Given the description of an element on the screen output the (x, y) to click on. 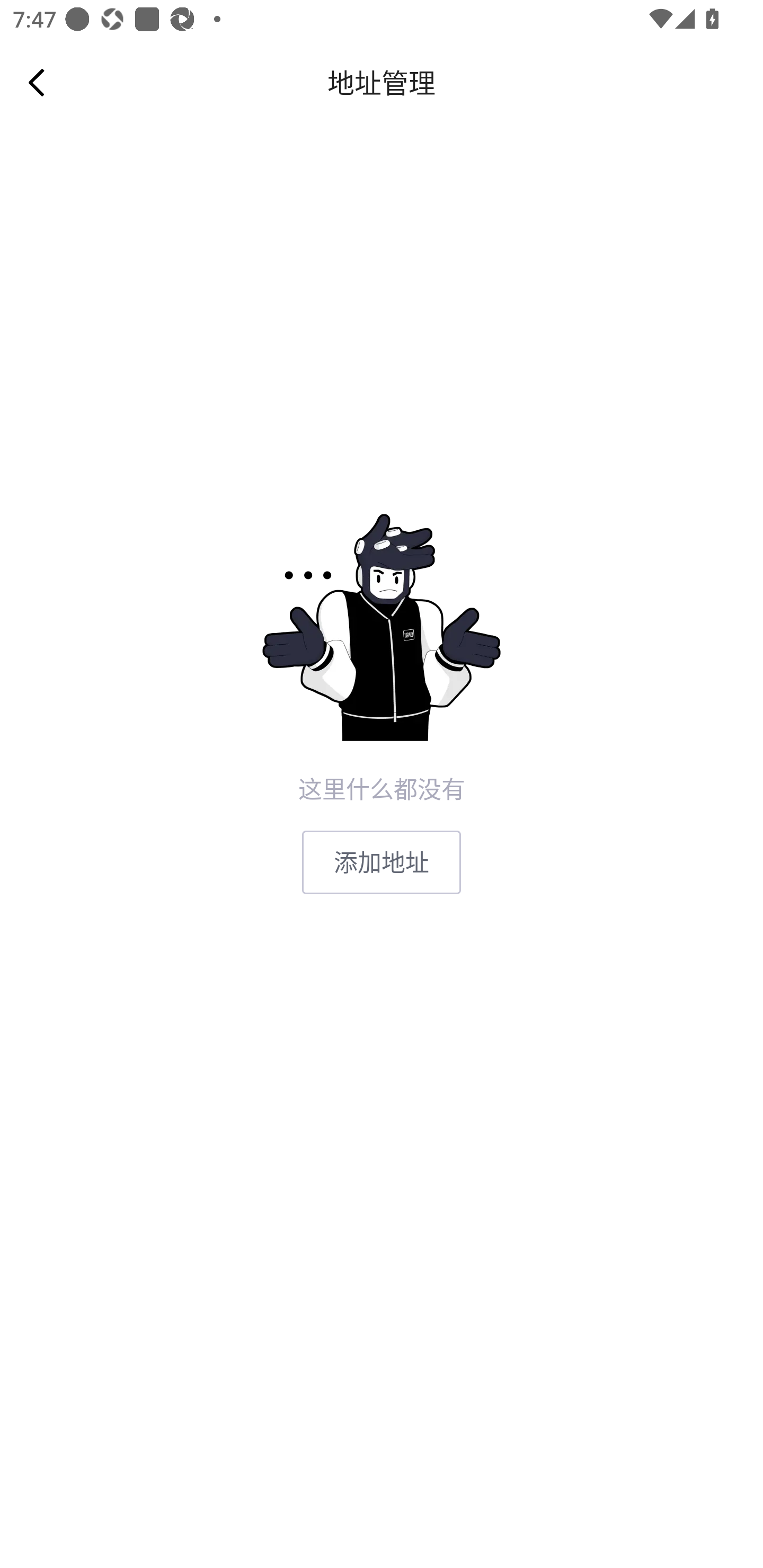
Navigate up (36, 82)
添加地址 (381, 862)
